Given the description of an element on the screen output the (x, y) to click on. 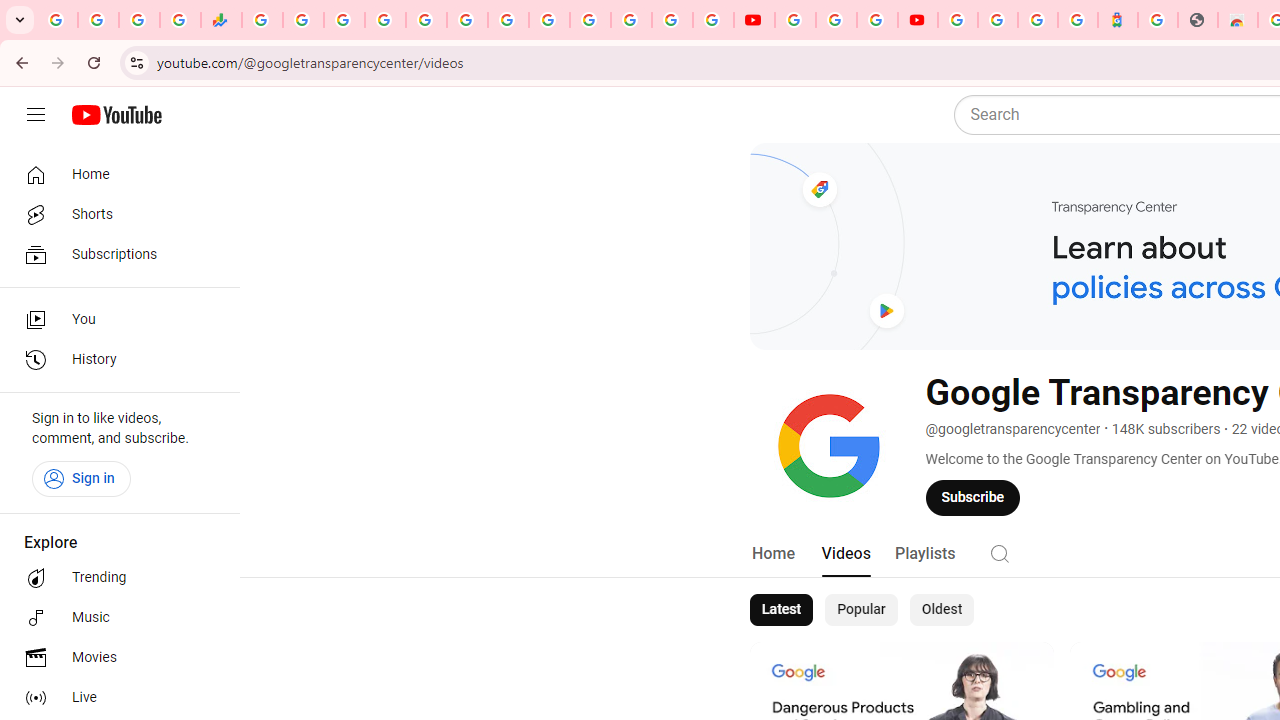
Android TV Policies and Guidelines - Transparency Center (507, 20)
Playlists (924, 553)
Home (772, 553)
YouTube Home (116, 115)
Chrome Web Store - Household (1238, 20)
Popular (861, 609)
YouTube (548, 20)
YouTube (753, 20)
Home (113, 174)
